Given the description of an element on the screen output the (x, y) to click on. 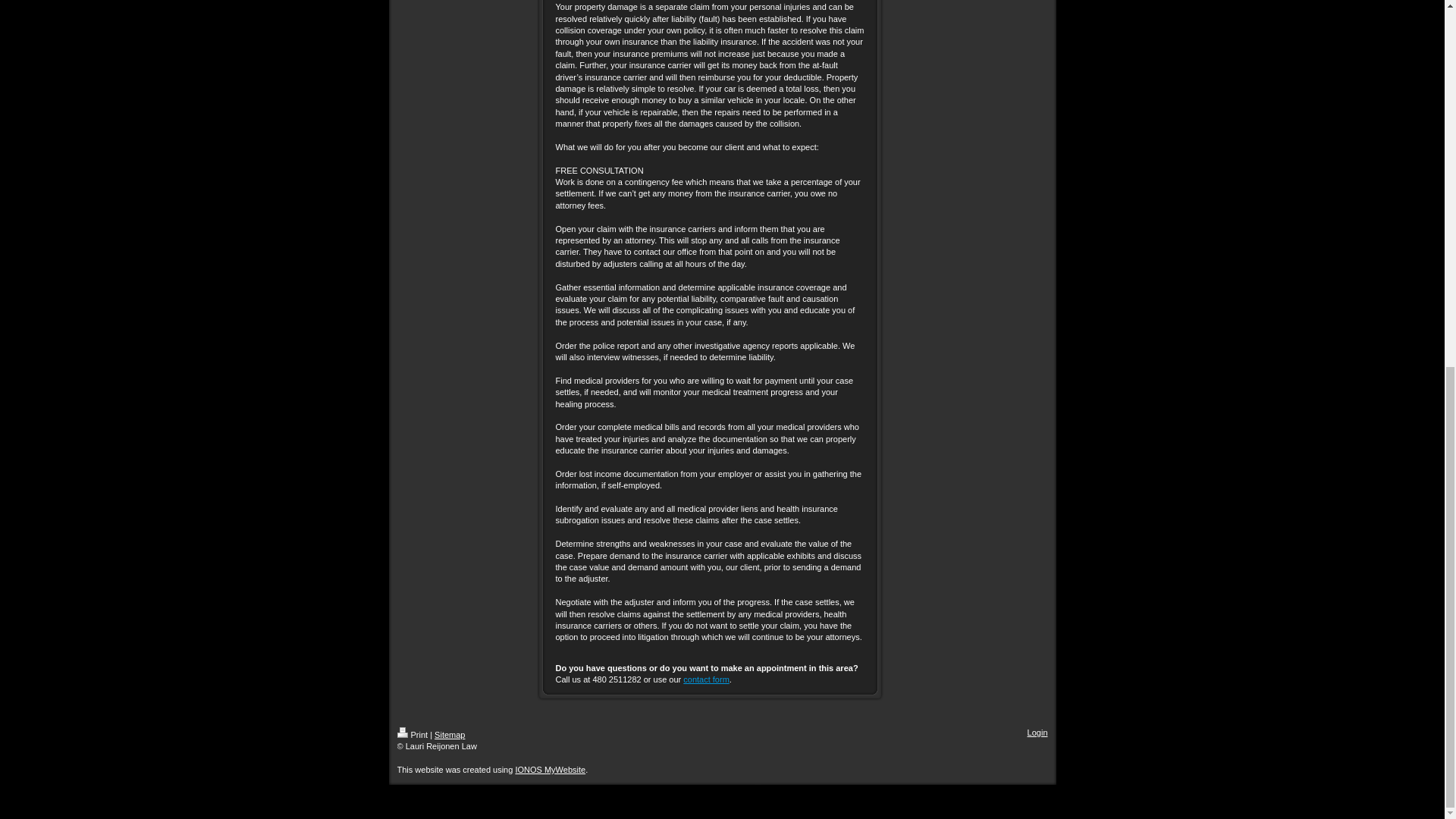
contact form (705, 678)
Sitemap (448, 734)
IONOS MyWebsite (550, 768)
Print (412, 734)
Login (1037, 732)
